Given the description of an element on the screen output the (x, y) to click on. 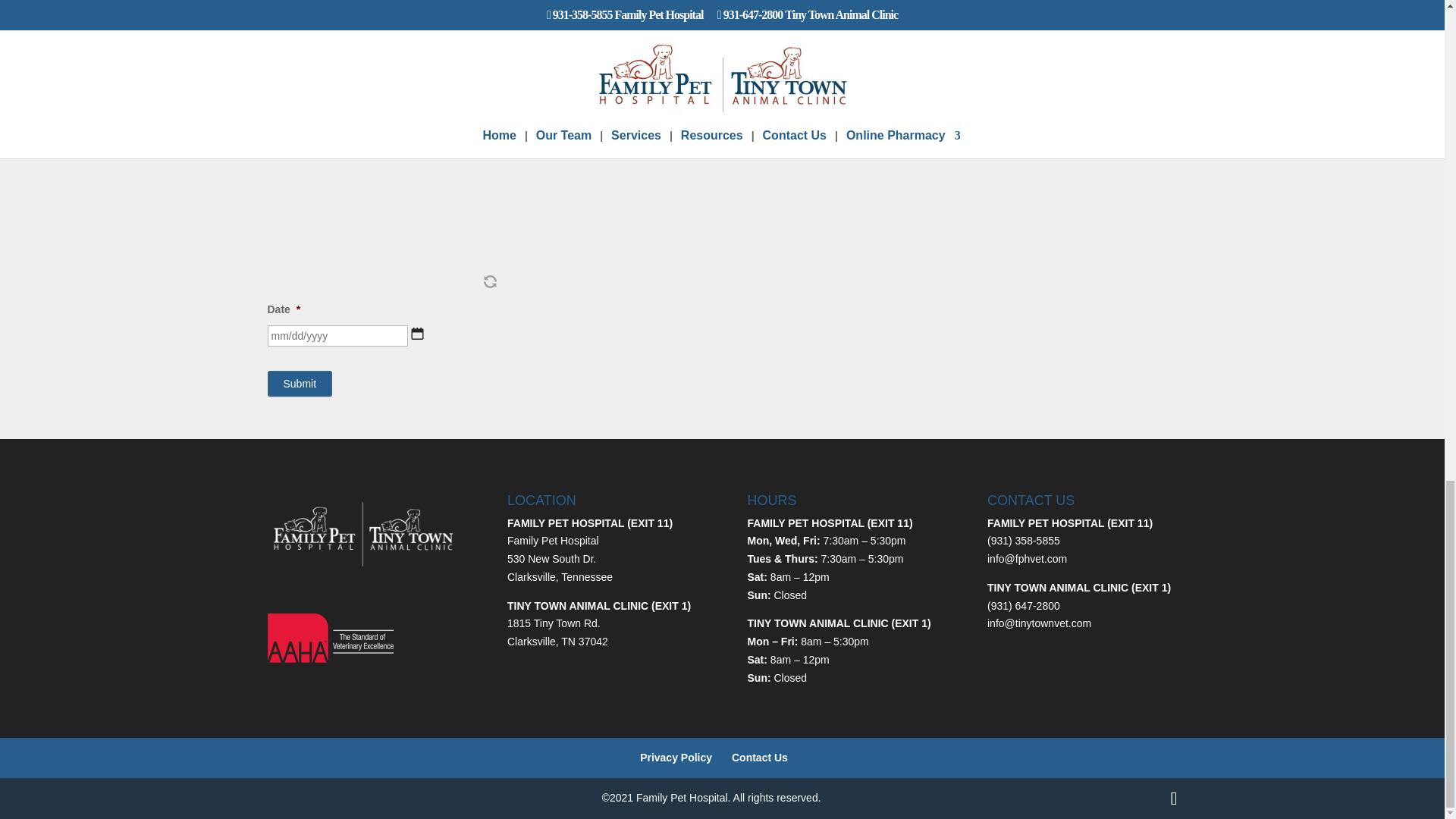
Contact Us (759, 757)
Select date (416, 333)
Clarksville, Tennessee (559, 576)
Submit (298, 382)
Submit (298, 382)
1815 Tiny Town Rd. (552, 623)
Clarksville, TN 37042 (557, 641)
Family Pet Hospital (552, 540)
530 New South Dr. (551, 558)
Privacy Policy (675, 757)
